Given the description of an element on the screen output the (x, y) to click on. 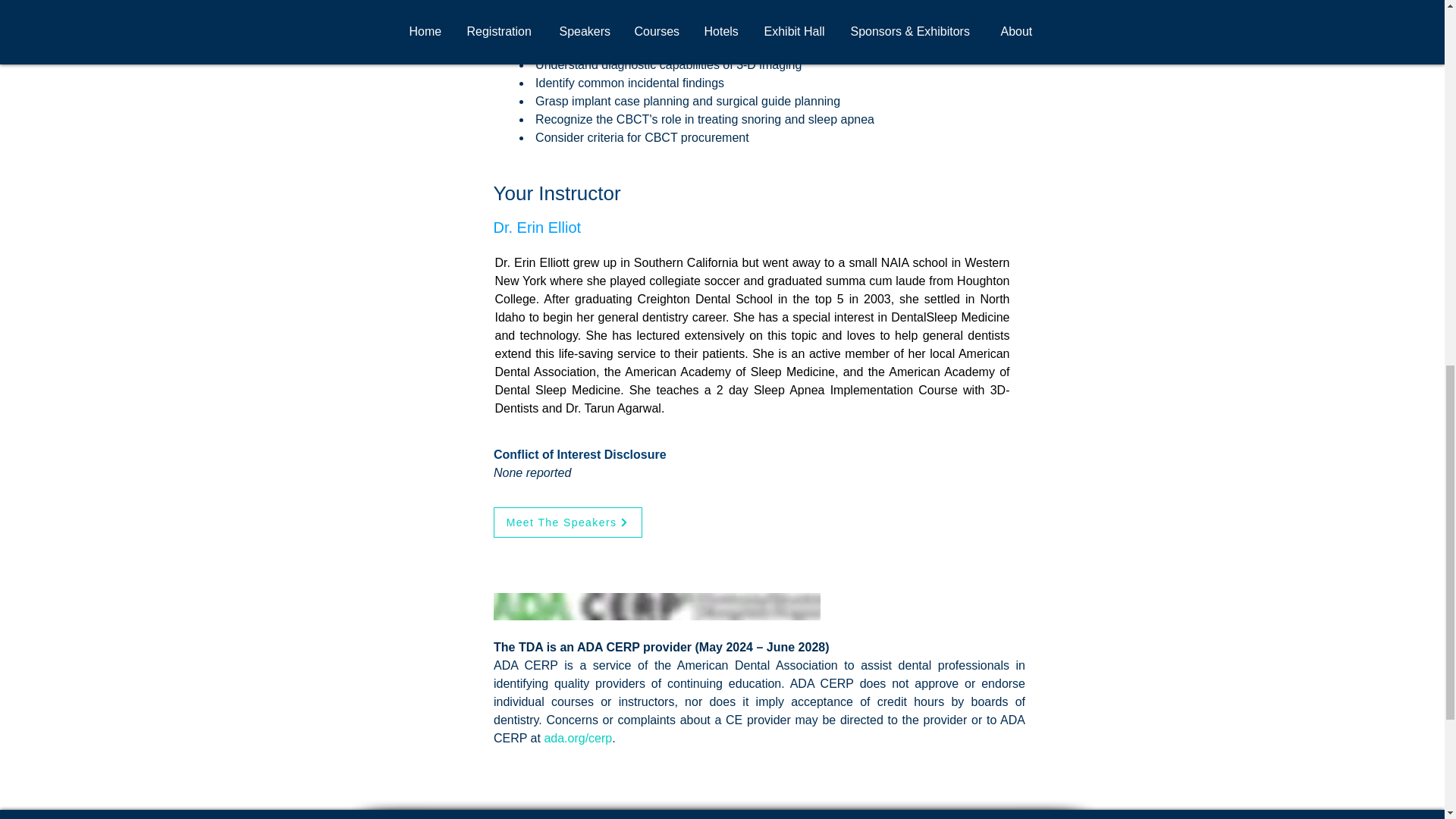
Meet The Speakers (567, 521)
